Given the description of an element on the screen output the (x, y) to click on. 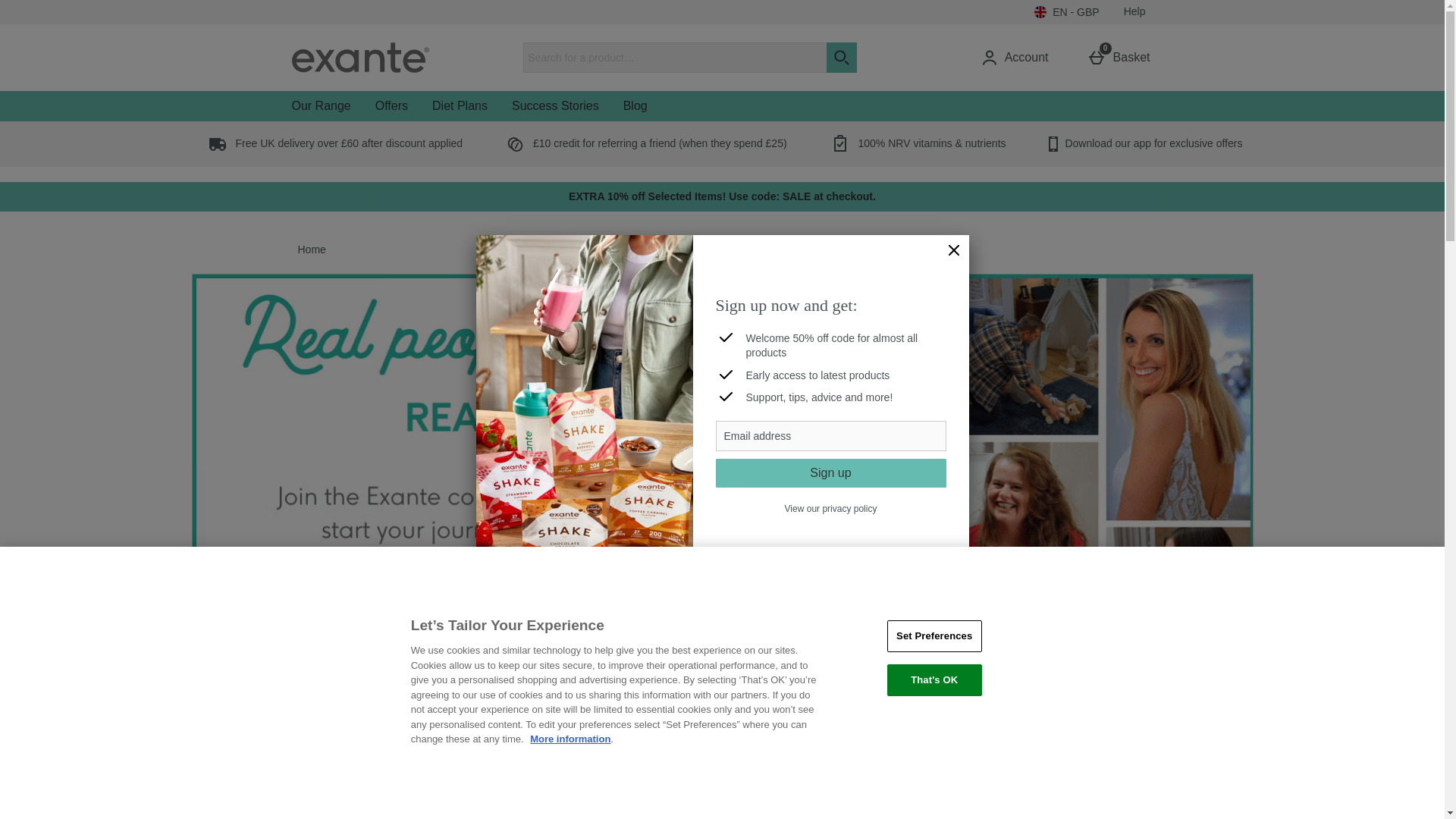
EN - GBP (1066, 12)
Help (1134, 12)
Our Range (320, 105)
Account (1123, 57)
Skip to main content (1017, 57)
Email address (48, 7)
Close (831, 435)
Start search (954, 250)
